Given the description of an element on the screen output the (x, y) to click on. 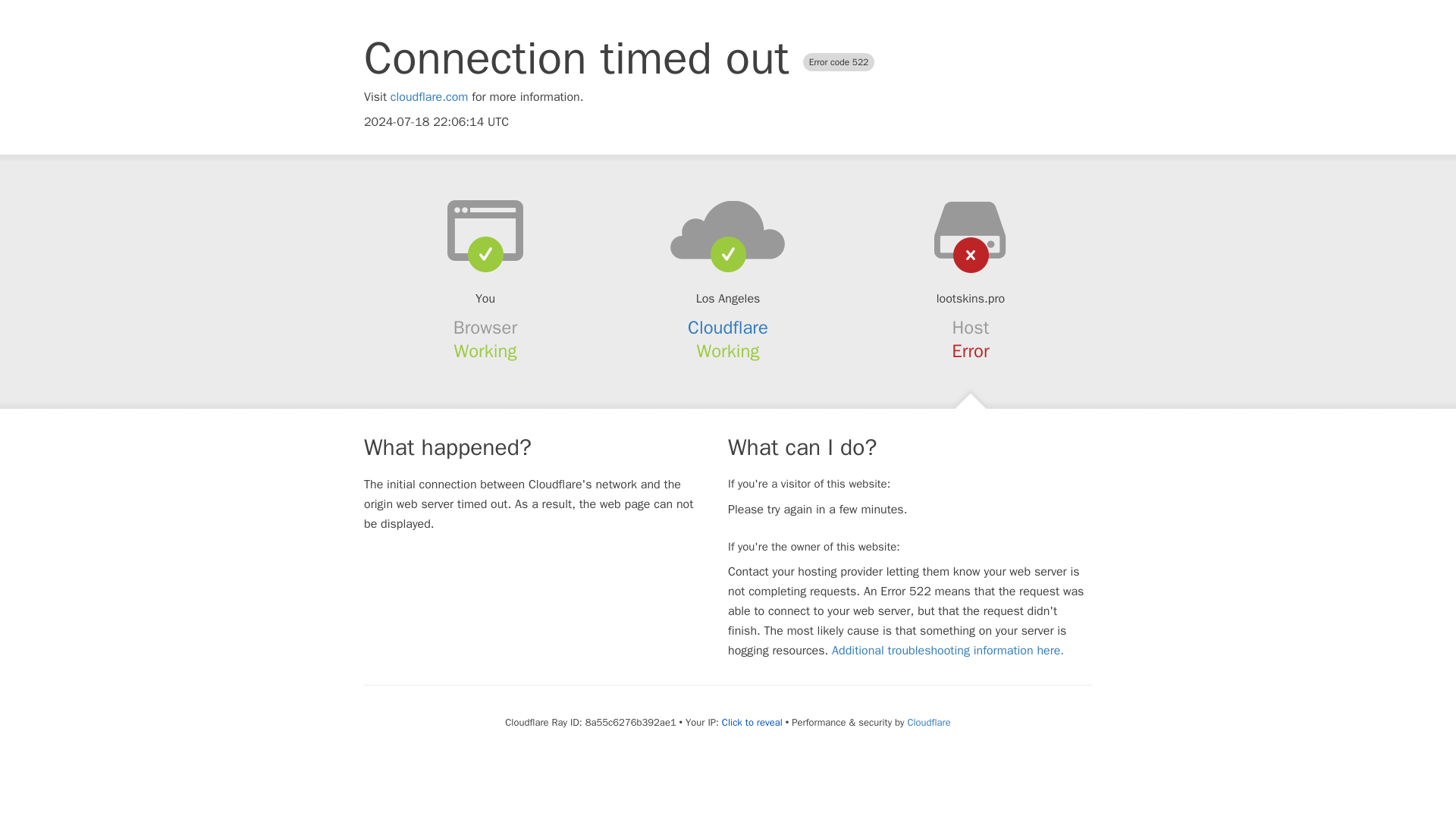
Cloudflare (727, 327)
Cloudflare (928, 721)
Click to reveal (752, 722)
Additional troubleshooting information here. (947, 650)
cloudflare.com (429, 96)
